Given the description of an element on the screen output the (x, y) to click on. 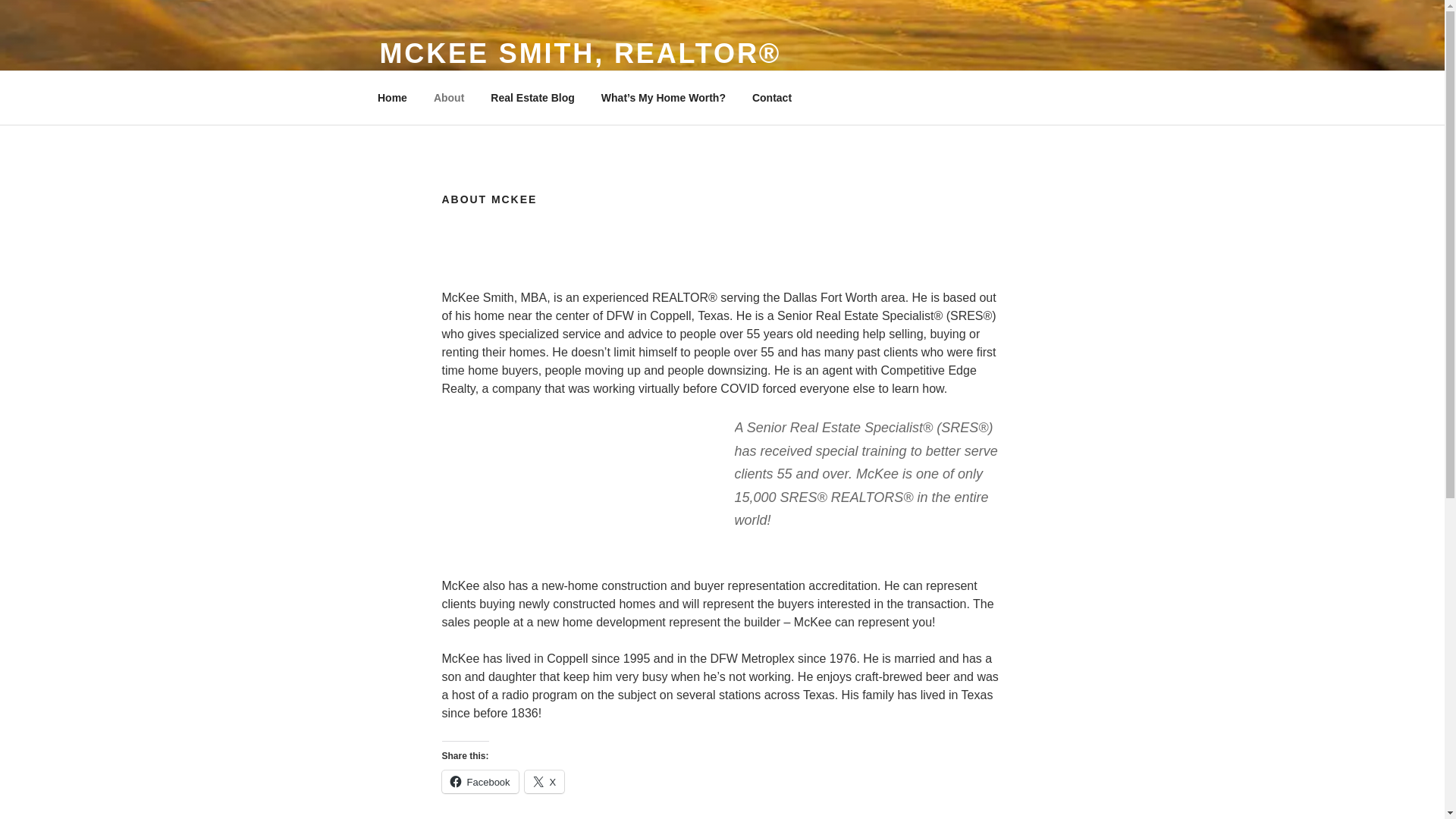
Click to share on X (544, 781)
Click to share on Facebook (479, 781)
Real Estate Blog (532, 97)
X (544, 781)
About (448, 97)
Contact (771, 97)
Home (392, 97)
Facebook (479, 781)
